Given the description of an element on the screen output the (x, y) to click on. 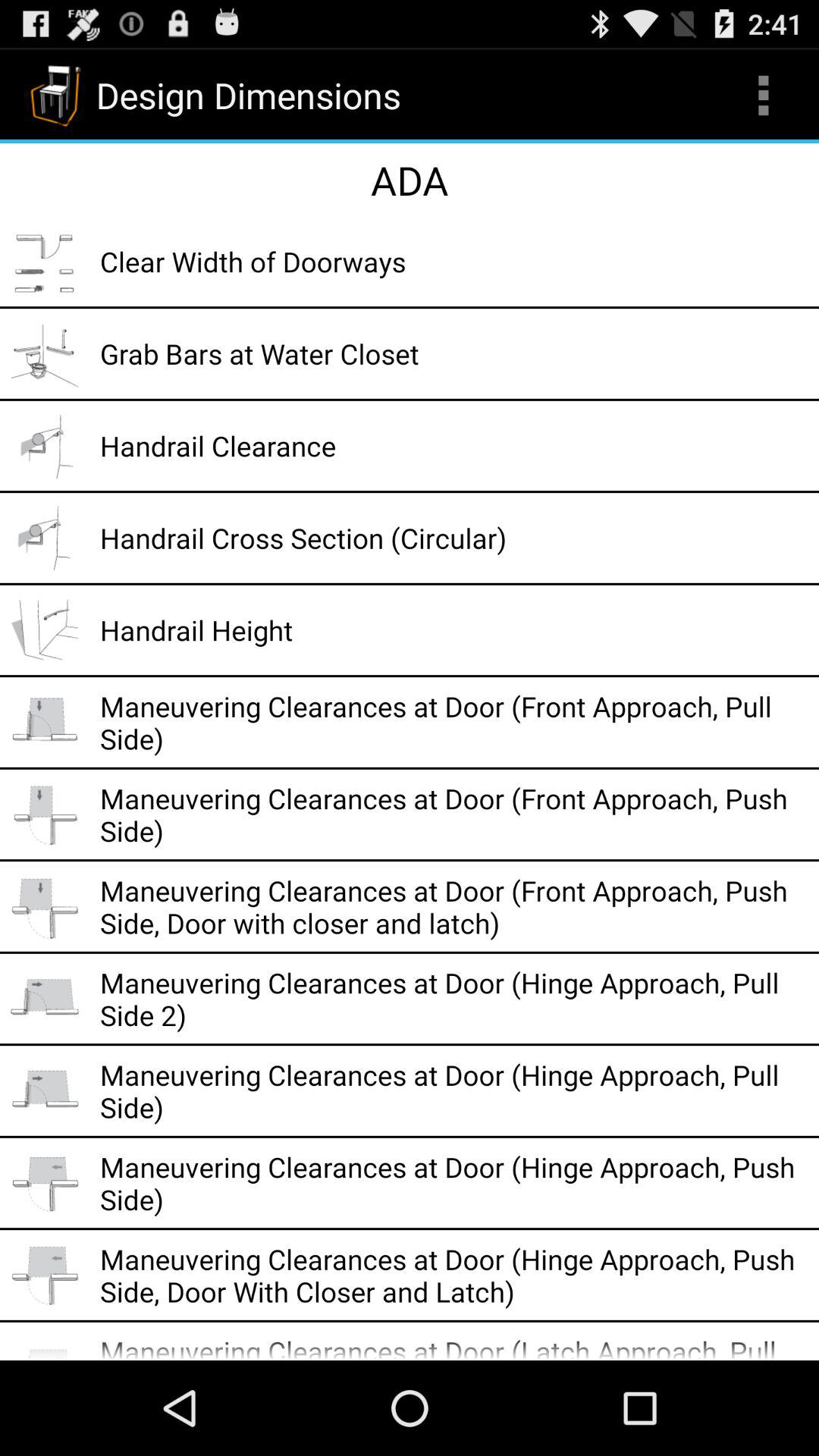
scroll until the grab bars at icon (454, 353)
